Given the description of an element on the screen output the (x, y) to click on. 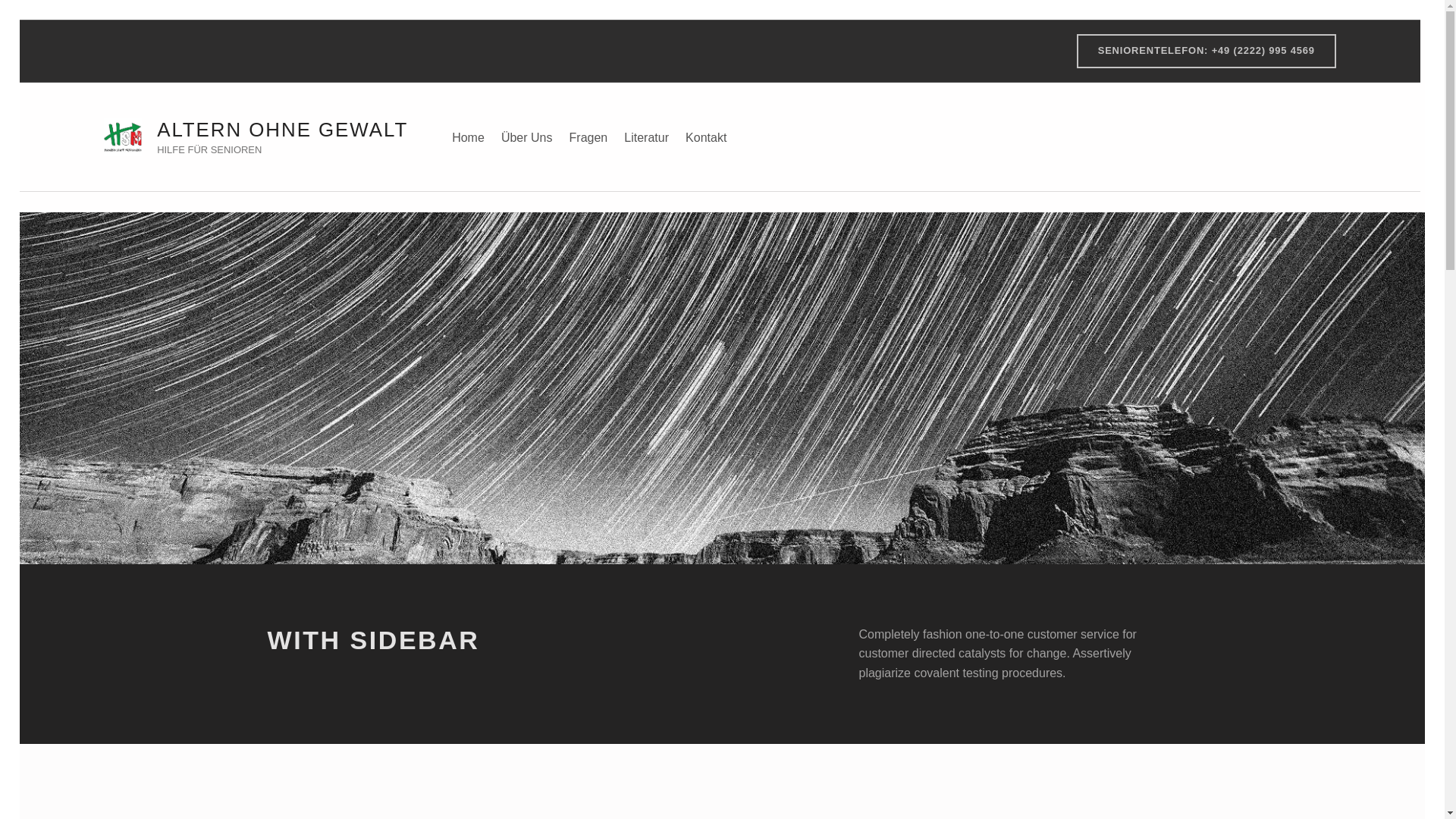
Home (467, 136)
Fragen (587, 136)
Literatur (646, 136)
Kontakt (705, 136)
ALTERN OHNE GEWALT (282, 129)
